Given the description of an element on the screen output the (x, y) to click on. 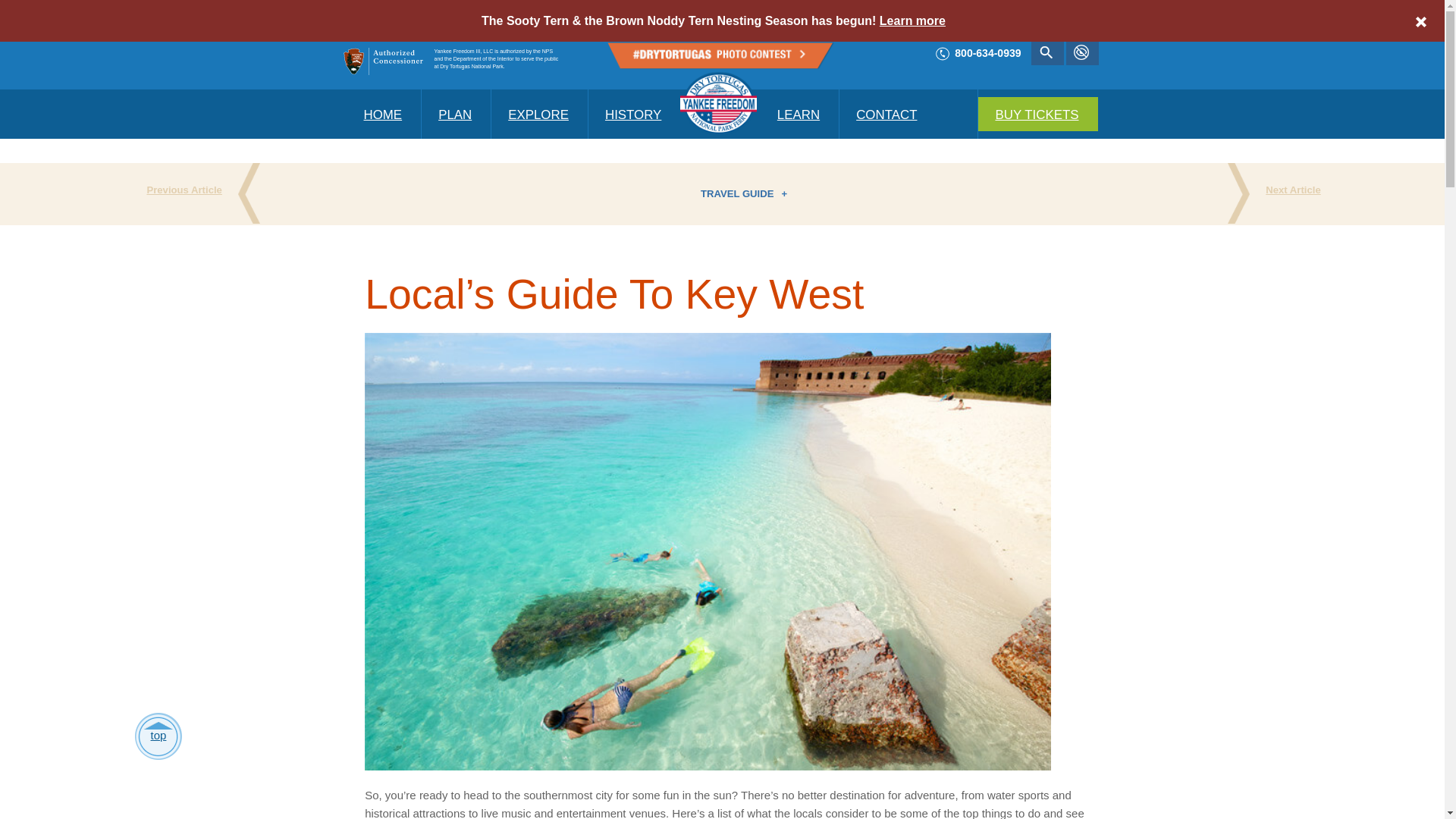
HISTORY (1037, 114)
HOME (633, 114)
EXPLORE (384, 114)
CONTACT (540, 114)
Yankee Freedom Dry tortugas national park ferry (888, 114)
LEARN (721, 107)
800-634-0939 (799, 114)
search (977, 53)
